Given the description of an element on the screen output the (x, y) to click on. 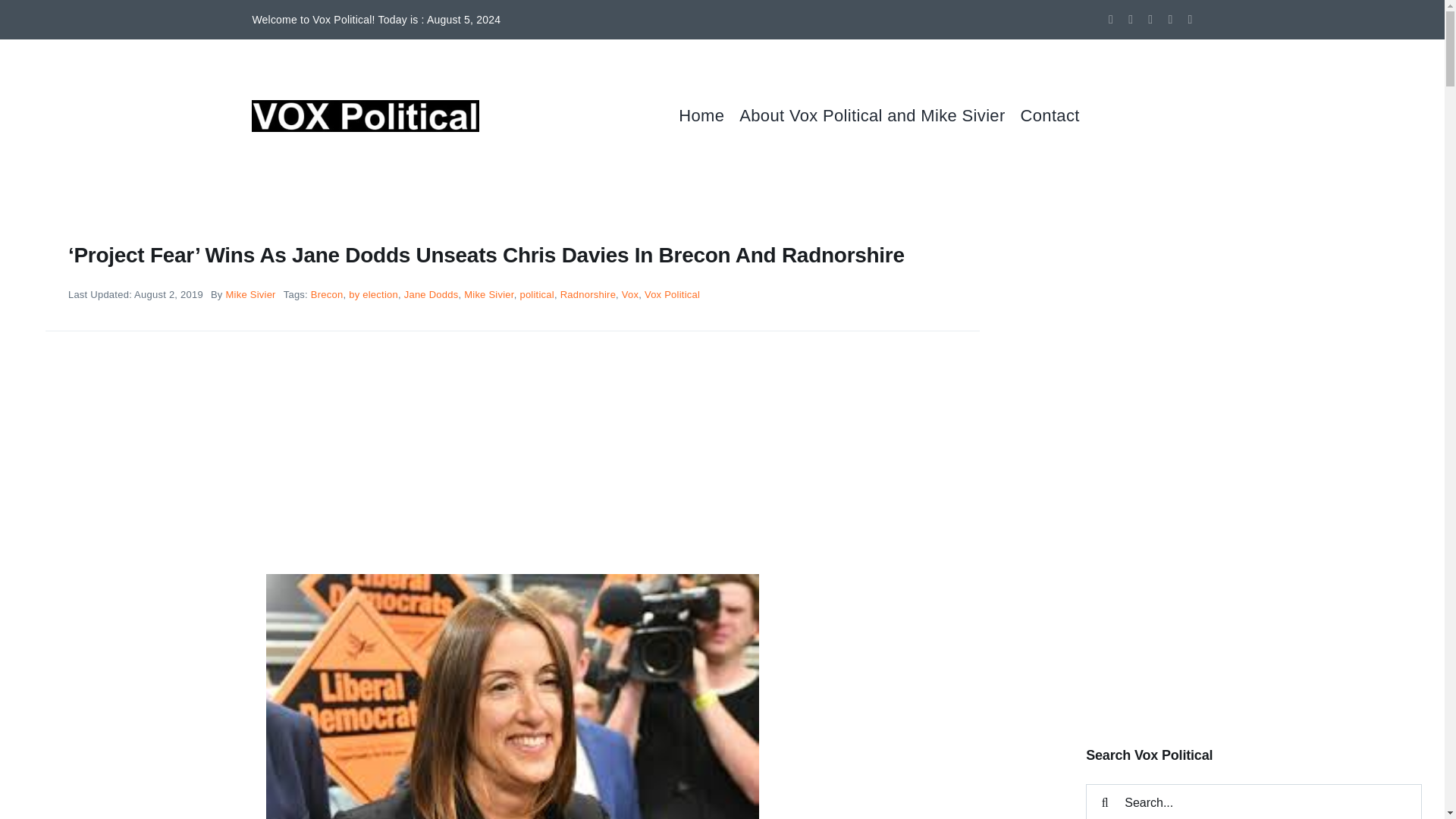
Posts by Mike Sivier (250, 294)
About Vox Political and Mike Sivier (879, 115)
Mike Sivier (488, 294)
by election (373, 294)
Advertisement (1254, 598)
political (536, 294)
Home (708, 115)
Vox Political (672, 294)
Contact (1057, 115)
